Given the description of an element on the screen output the (x, y) to click on. 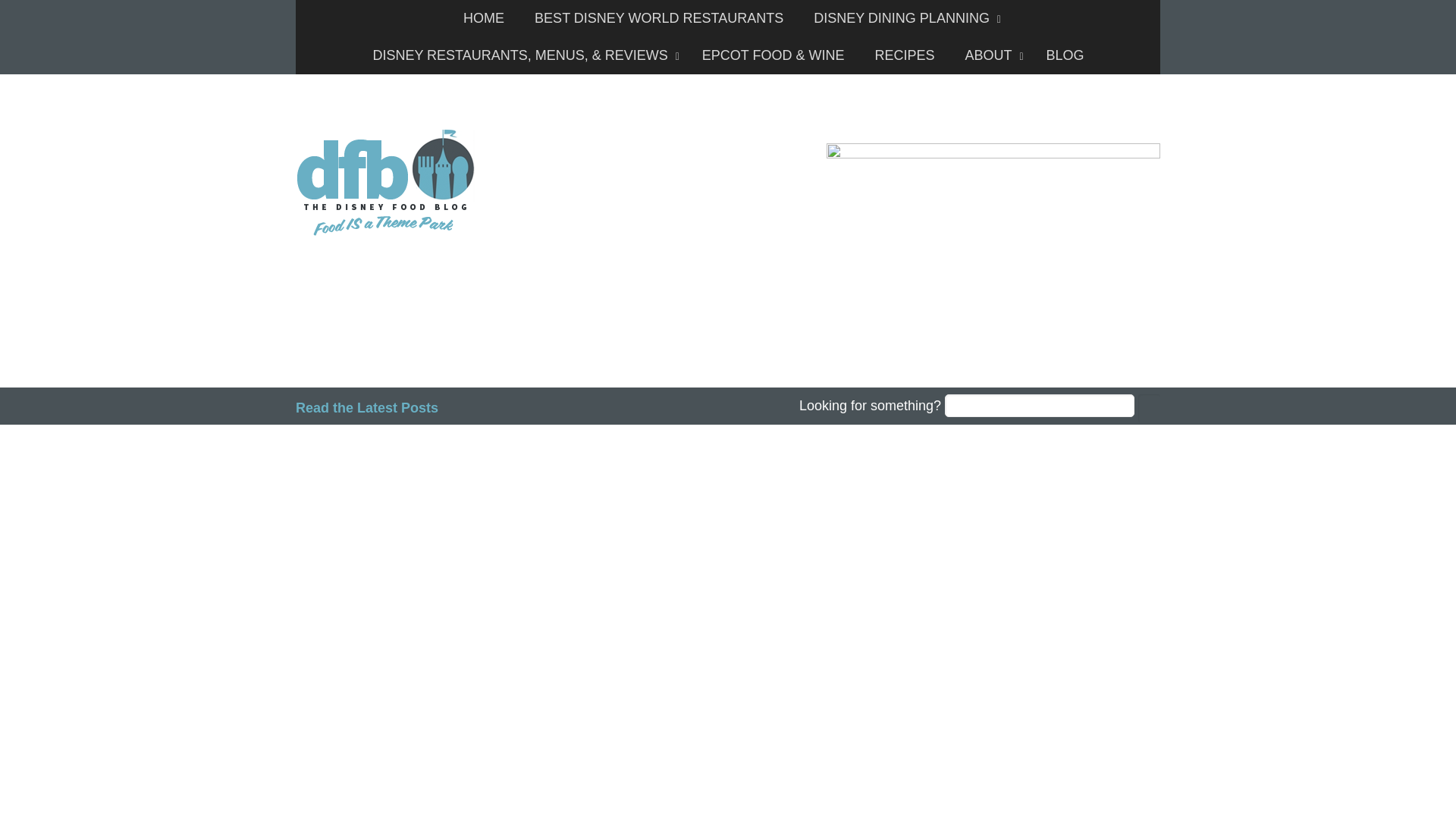
DISNEY DINING PLANNING (903, 18)
BEST DISNEY WORLD RESTAURANTS (658, 18)
HOME (483, 18)
